Given the description of an element on the screen output the (x, y) to click on. 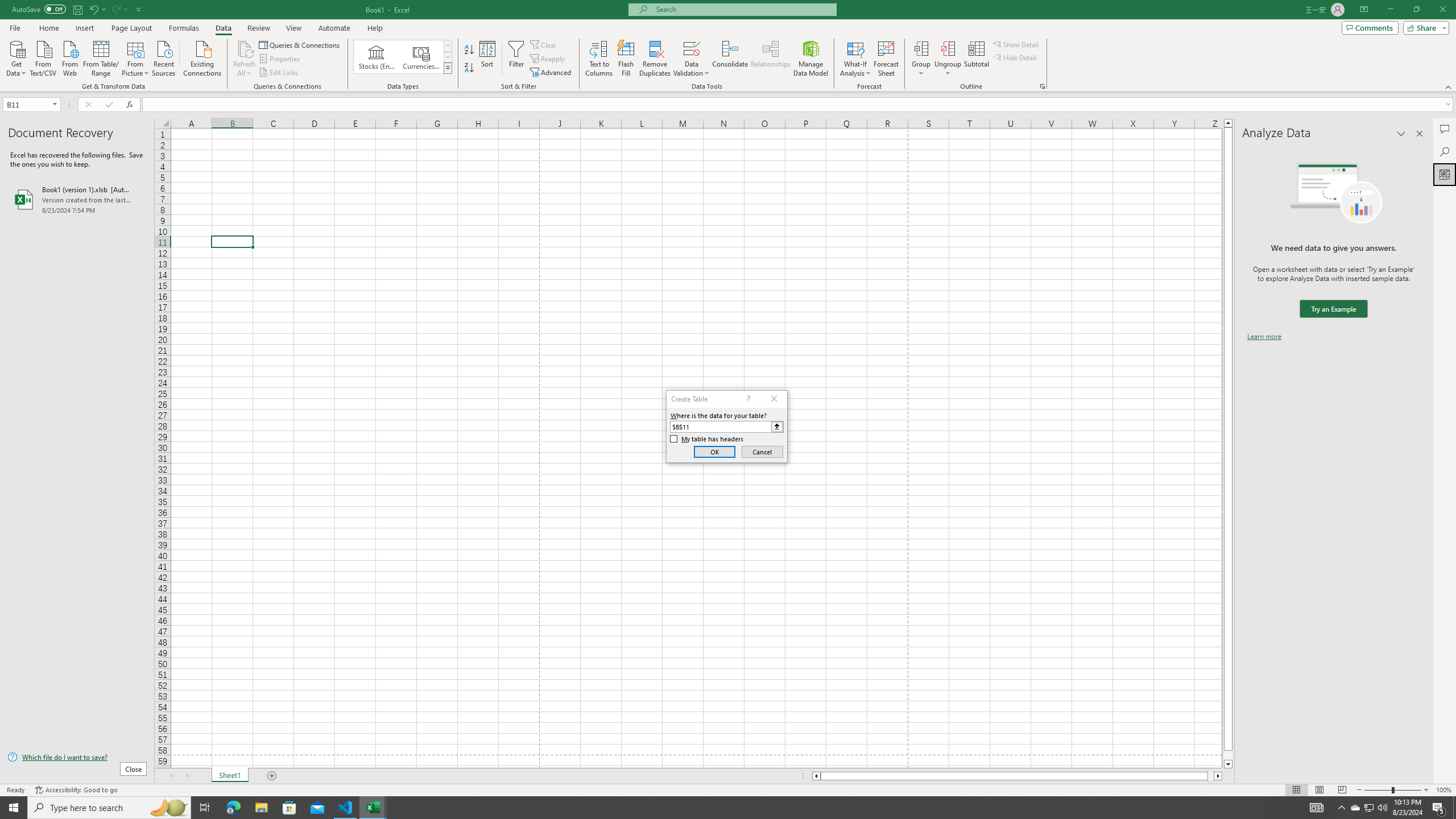
Data (223, 28)
Zoom Out (1377, 790)
Page down (1228, 755)
Page Break Preview (1342, 790)
Zoom (1392, 790)
Page right (1211, 775)
Line down (1228, 764)
Scroll Right (187, 775)
Learn more (1264, 336)
From Picture (135, 57)
Refresh All (244, 58)
Group... (921, 48)
Open (54, 104)
Name Box (30, 104)
